Given the description of an element on the screen output the (x, y) to click on. 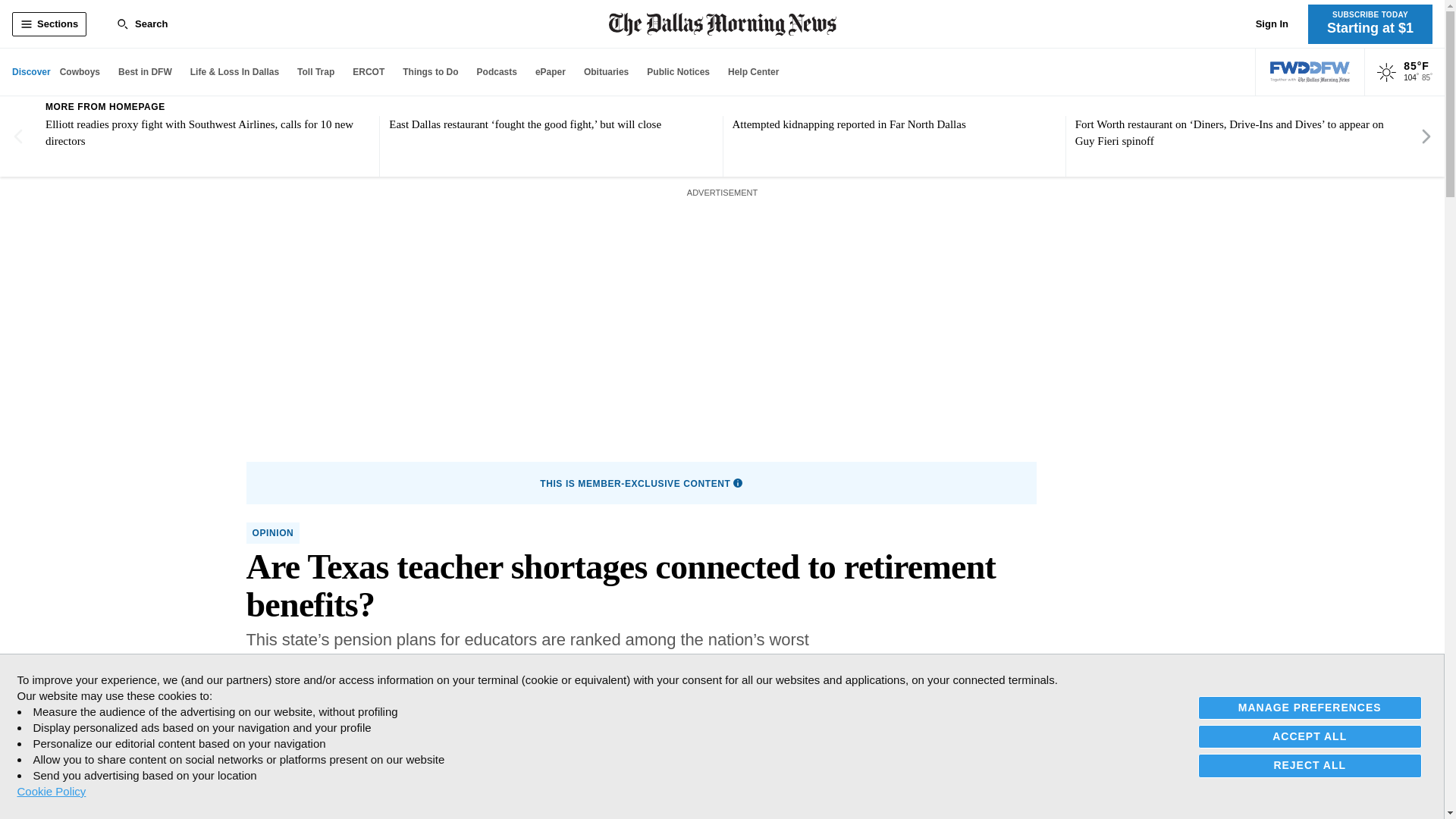
FWD DFW, Together with The Dallas Morning News (1310, 72)
Cookie Policy (50, 790)
ACCEPT ALL (1310, 736)
MANAGE PREFERENCES (1310, 707)
REJECT ALL (1310, 765)
Clear sky (1386, 72)
